Given the description of an element on the screen output the (x, y) to click on. 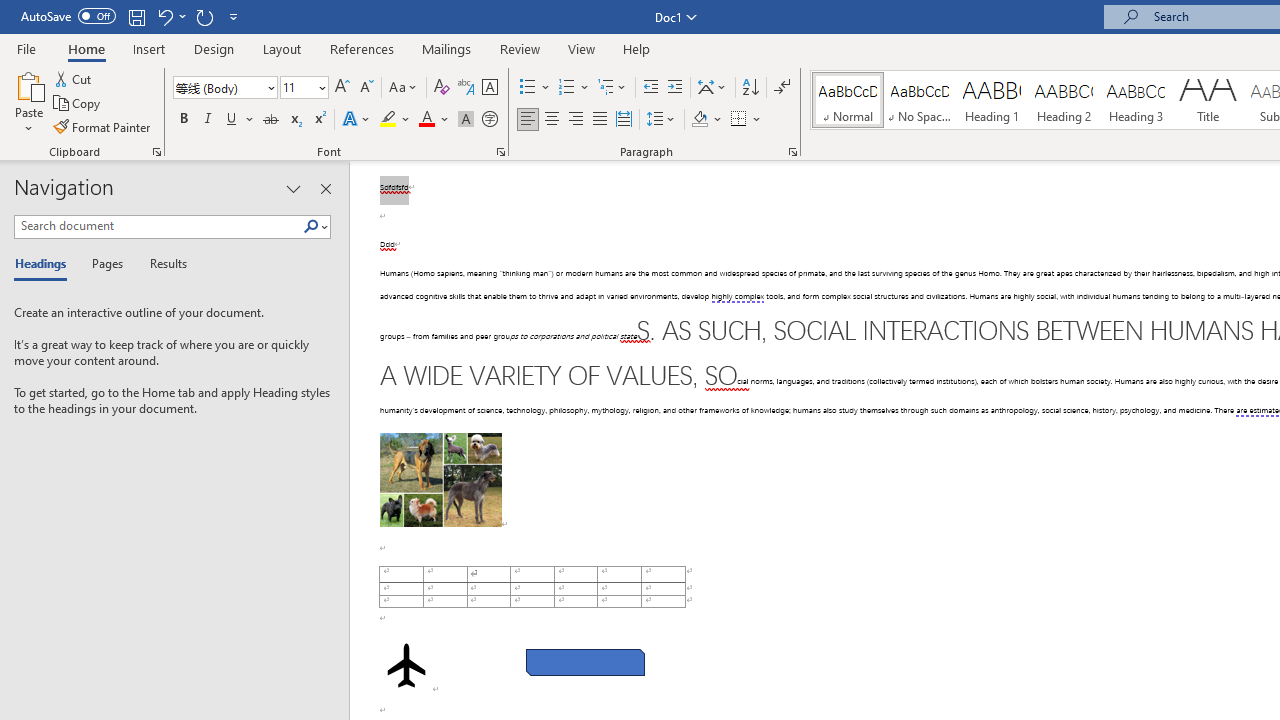
Align Left (527, 119)
Underline (239, 119)
Font (224, 87)
Paste (28, 102)
Bold (183, 119)
Text Effects and Typography (357, 119)
Layout (282, 48)
Underline (232, 119)
Copy (78, 103)
Borders (746, 119)
Open (320, 87)
Shrink Font (365, 87)
Justify (599, 119)
Repeat Style (204, 15)
